Given the description of an element on the screen output the (x, y) to click on. 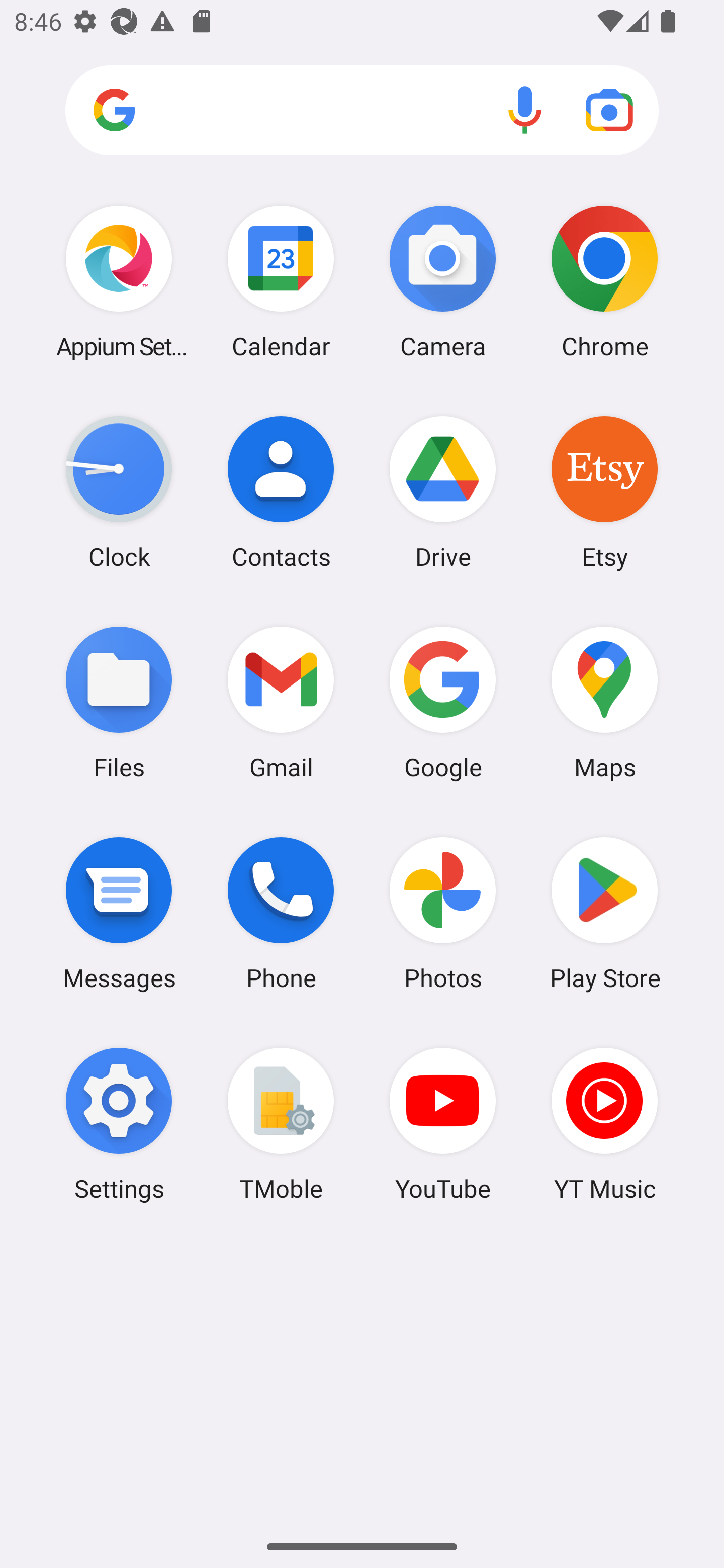
Search apps, web and more (361, 110)
Voice search (524, 109)
Google Lens (608, 109)
Appium Settings (118, 281)
Calendar (280, 281)
Camera (443, 281)
Chrome (604, 281)
Clock (118, 492)
Contacts (280, 492)
Drive (443, 492)
Etsy (604, 492)
Files (118, 702)
Gmail (280, 702)
Google (443, 702)
Maps (604, 702)
Messages (118, 913)
Phone (280, 913)
Photos (443, 913)
Play Store (604, 913)
Settings (118, 1124)
TMoble (280, 1124)
YouTube (443, 1124)
YT Music (604, 1124)
